Given the description of an element on the screen output the (x, y) to click on. 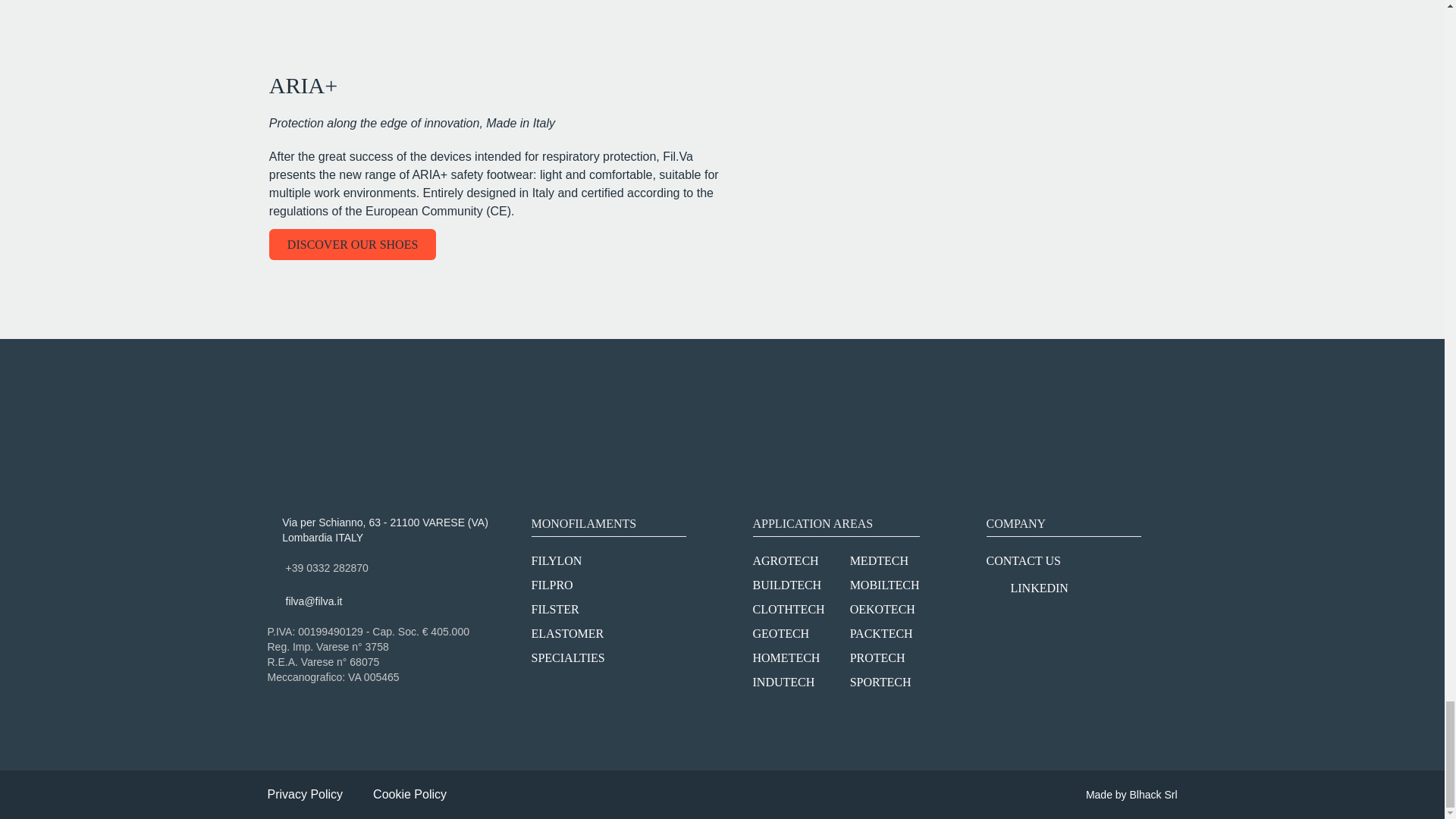
Privacy Policy (304, 793)
FILSTER (554, 608)
CLOTHTECH (788, 608)
PROTECH (877, 657)
Made by Blhack Srl (1131, 794)
MEDTECH (879, 560)
GEOTECH (780, 633)
AGROTECH (785, 560)
LINKEDIN (1062, 588)
INDUTECH (782, 681)
